Given the description of an element on the screen output the (x, y) to click on. 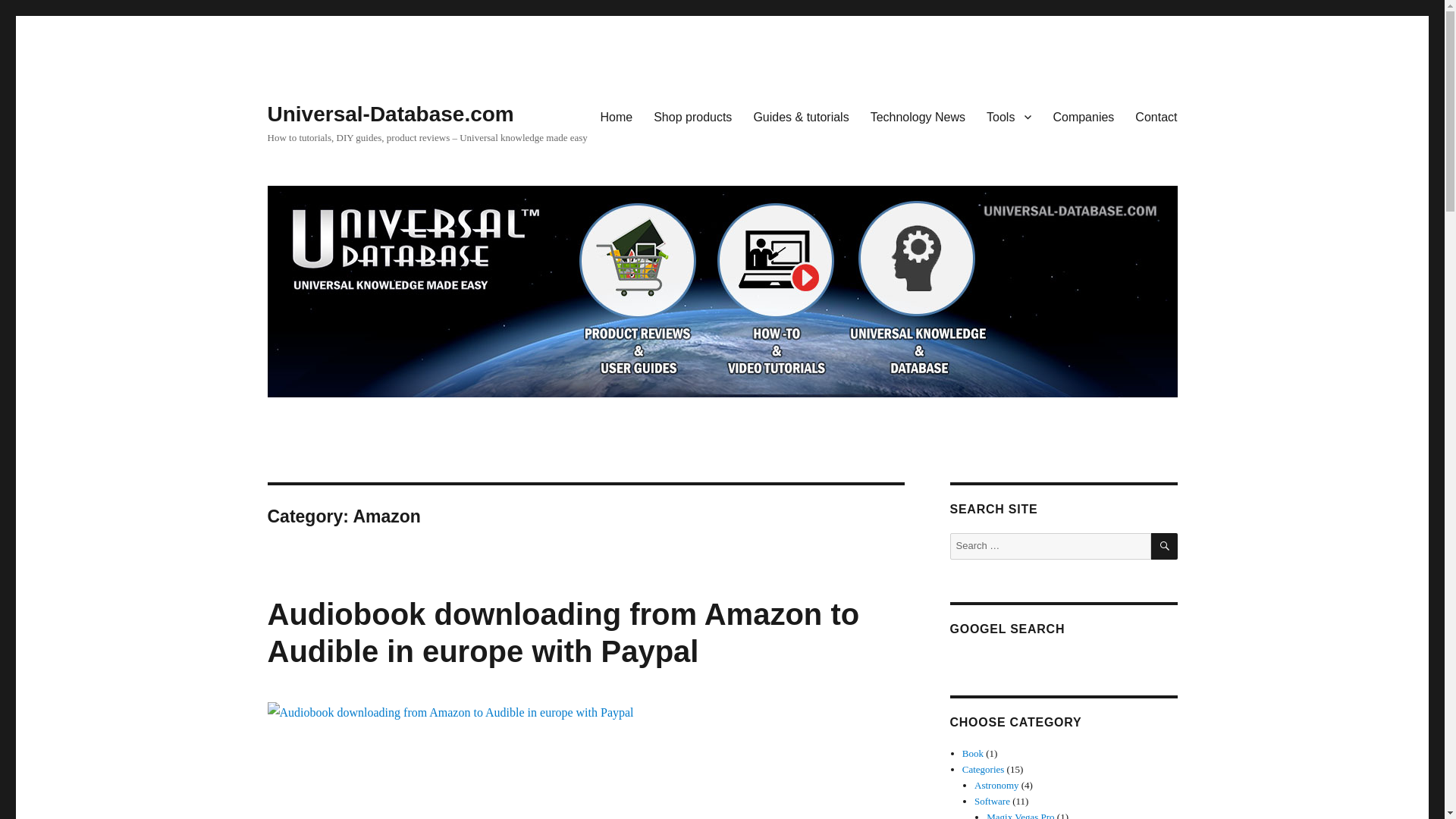
Universal-Database.com (389, 114)
Astronomy (996, 785)
Contact (1156, 116)
Software (992, 800)
Categories (983, 768)
Shop products (692, 116)
Tools (1008, 116)
Book (973, 753)
Technology News (917, 116)
